Given the description of an element on the screen output the (x, y) to click on. 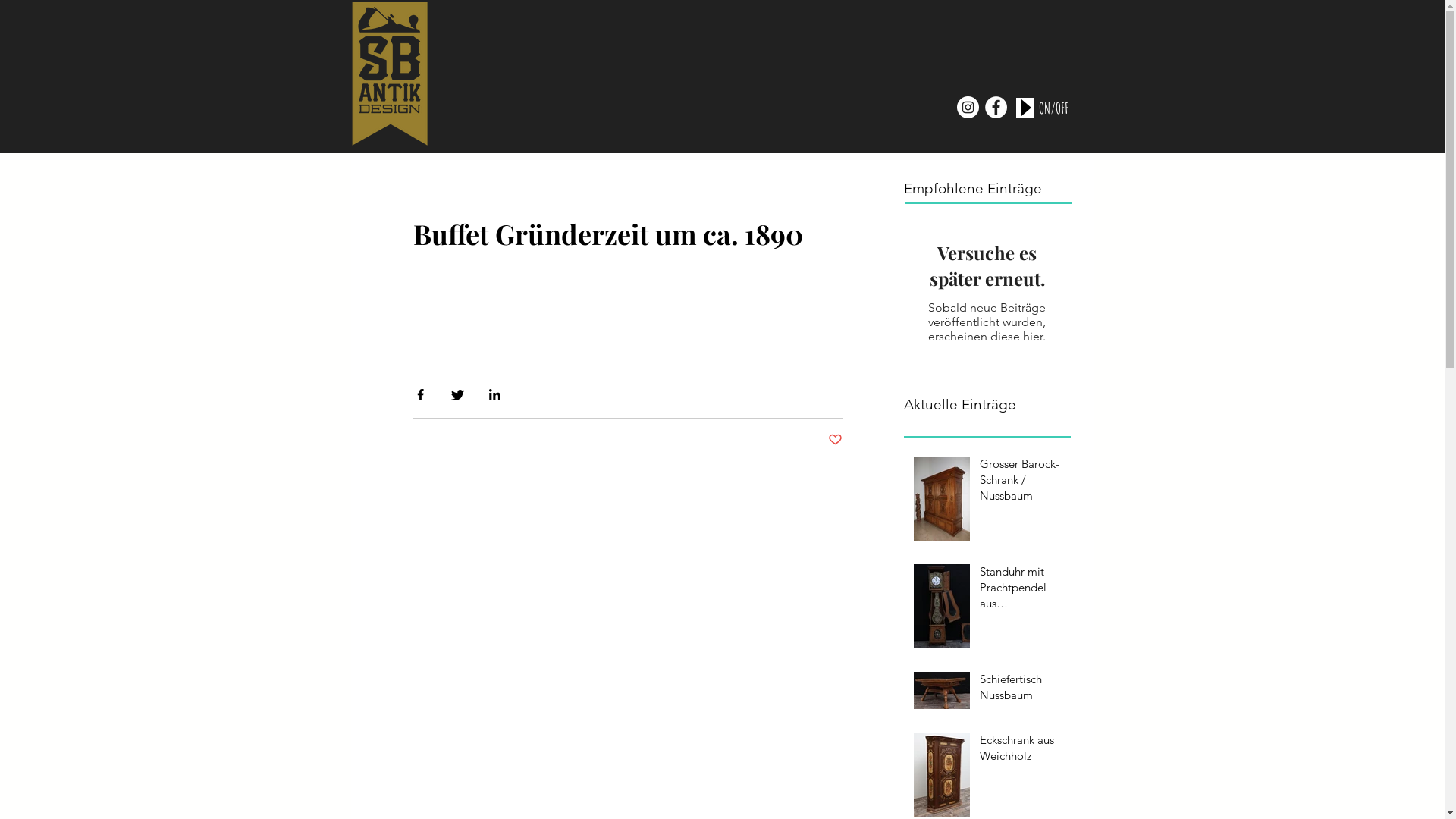
Grosser Barock-Schrank / Nussbaum Element type: text (1020, 482)
Standuhr mit Prachtpendel aus Messingblech Element type: text (1020, 590)
Eckschrank aus Weichholz Element type: text (1020, 750)
Schiefertisch Nussbaum Element type: text (1020, 690)
